Given the description of an element on the screen output the (x, y) to click on. 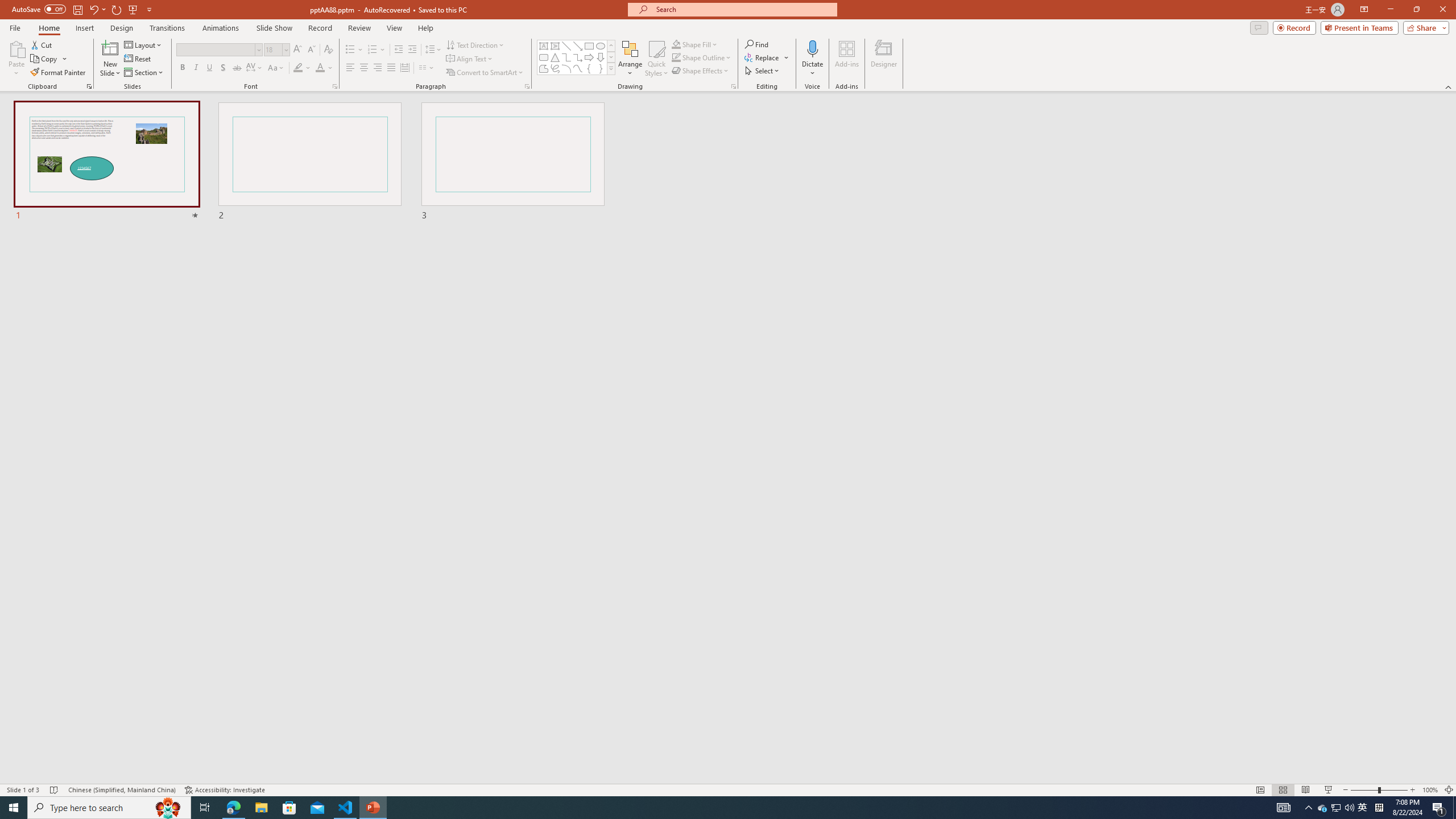
Rectangle: Rounded Corners (543, 57)
Font Color Red (320, 67)
Line Spacing (433, 49)
Arrow: Down (600, 57)
Paste (16, 58)
Character Spacing (254, 67)
Bullets (354, 49)
Shape Fill (694, 44)
Arrow: Right (589, 57)
Format Object... (733, 85)
Connector: Elbow Arrow (577, 57)
